Given the description of an element on the screen output the (x, y) to click on. 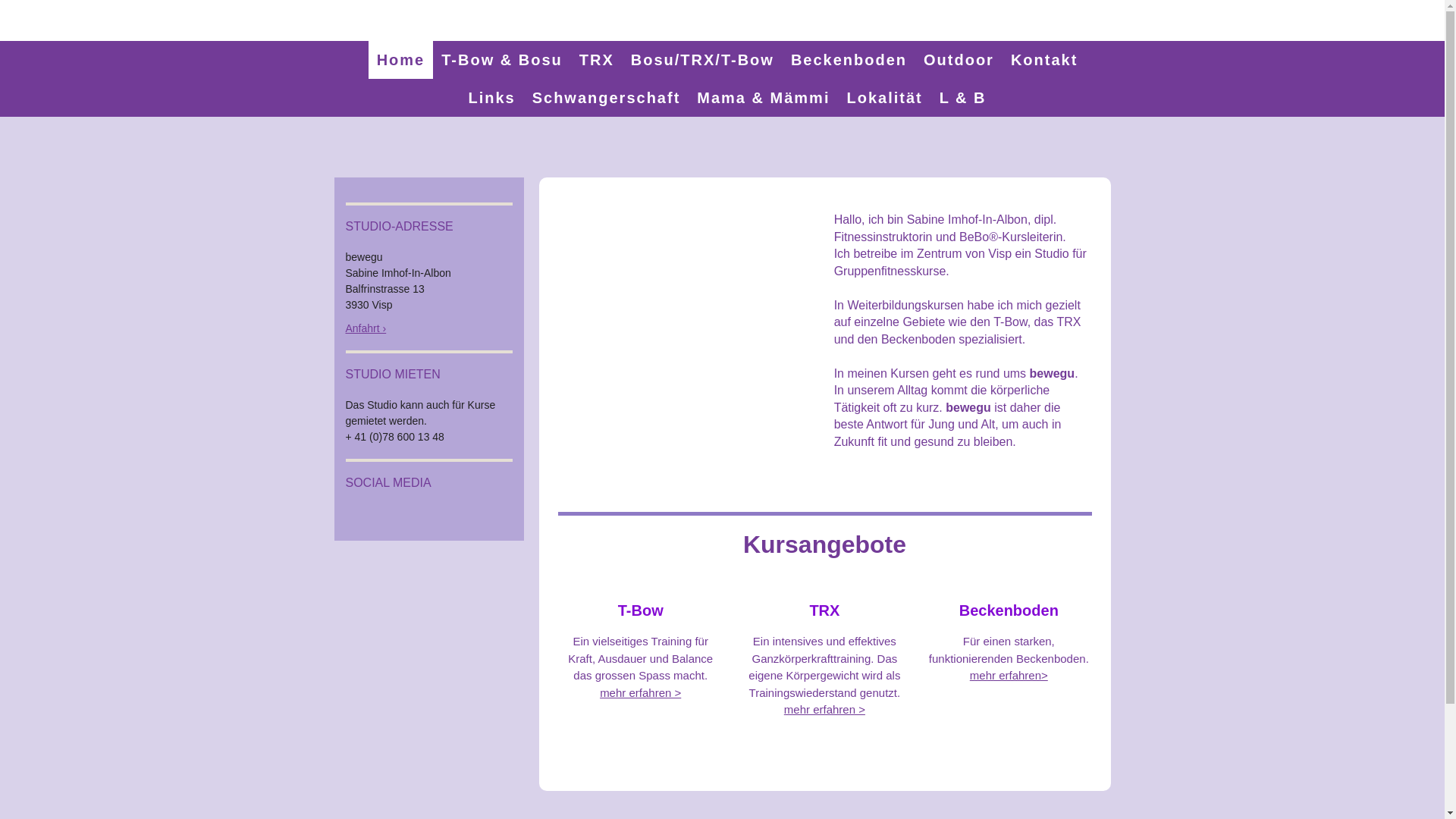
Outdoor Element type: text (958, 59)
Kontakt Element type: text (1043, 59)
mehr erfahren> Element type: text (1008, 674)
mehr erfahren > Element type: text (639, 691)
Schwangerschaft Element type: text (606, 97)
Beckenboden Element type: text (848, 59)
T-Bow & Bosu Element type: text (502, 59)
Bosu/TRX/T-Bow Element type: text (702, 59)
Links Element type: text (491, 97)
mehr erfahren > Element type: text (824, 708)
L & B Element type: text (962, 97)
Home Element type: text (400, 59)
TRX Element type: text (596, 59)
